Given the description of an element on the screen output the (x, y) to click on. 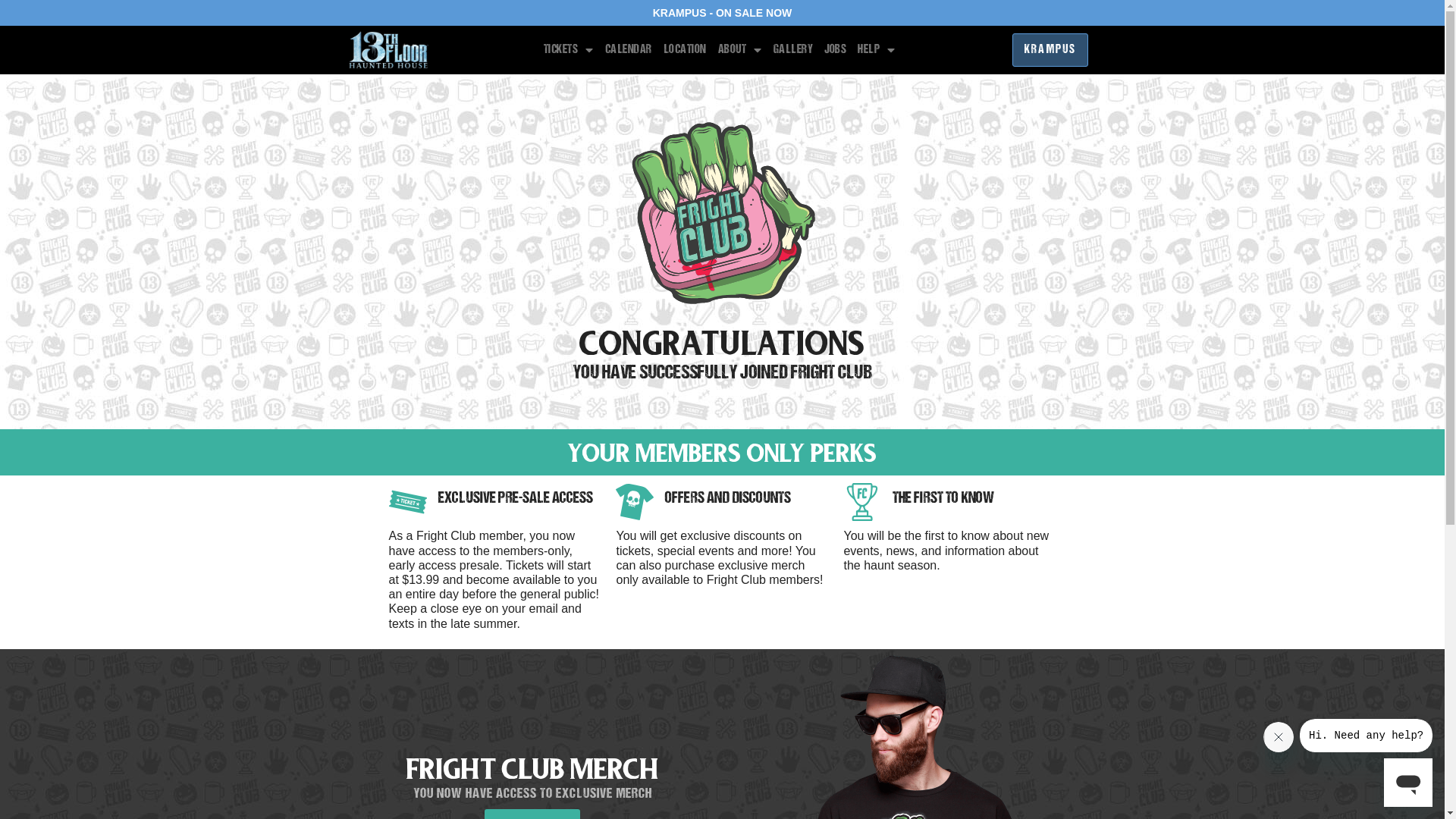
HELP Element type: text (876, 49)
GALLERY Element type: text (793, 49)
Close message Element type: hover (1278, 736)
TICKETS Element type: text (568, 49)
ABOUT Element type: text (739, 49)
KRAMPUS Element type: text (1050, 49)
CALENDAR Element type: text (628, 49)
Button to launch messaging window Element type: hover (1407, 782)
JOBS Element type: text (835, 49)
Message from company Element type: hover (1365, 735)
LOCATION Element type: text (684, 49)
